Given the description of an element on the screen output the (x, y) to click on. 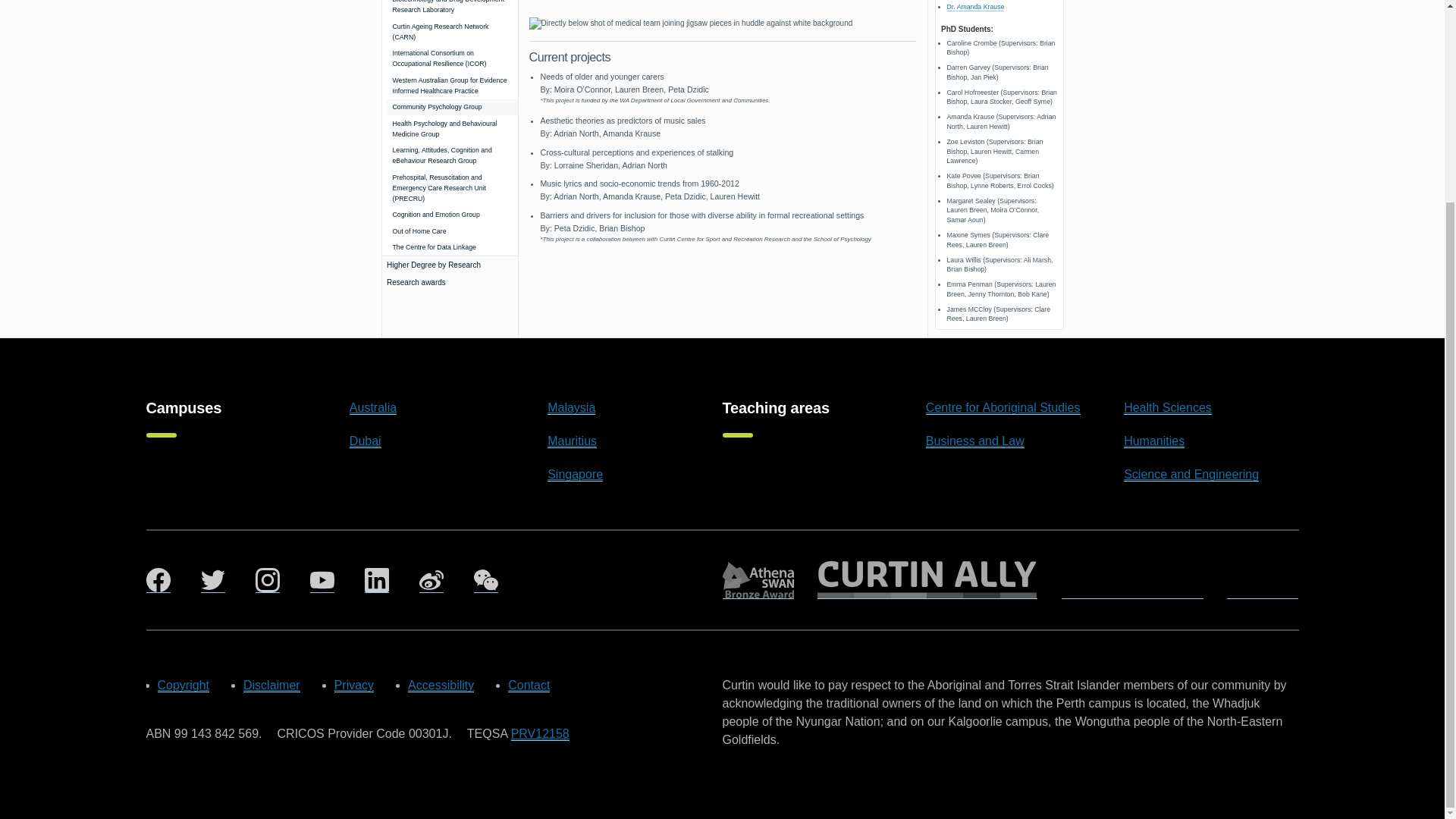
Opens in a new window (975, 7)
